Given the description of an element on the screen output the (x, y) to click on. 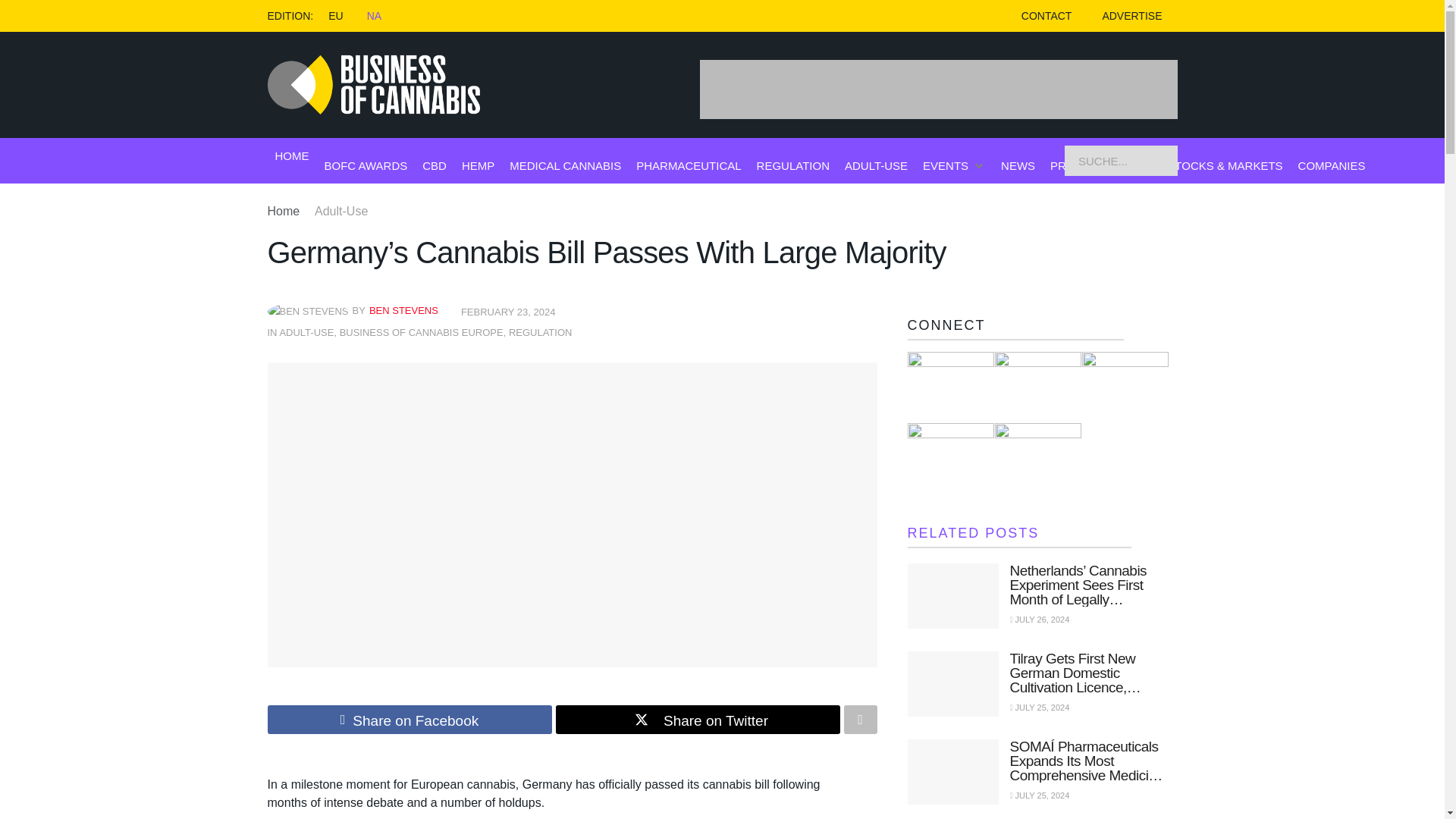
BEN STEVENS (403, 310)
HOME (291, 156)
EVENTS (945, 165)
Share on Facebook (408, 719)
CBD (434, 165)
Share on Twitter (697, 719)
ADVERTISE (1131, 15)
FEBRUARY 23, 2024 (508, 311)
HEMP (478, 165)
COMPANIES (1331, 165)
NEWS (1018, 165)
ADULT-USE (306, 332)
Home (282, 210)
PRESS RELEASES (1100, 165)
BUSINESS OF CANNABIS EUROPE (421, 332)
